Given the description of an element on the screen output the (x, y) to click on. 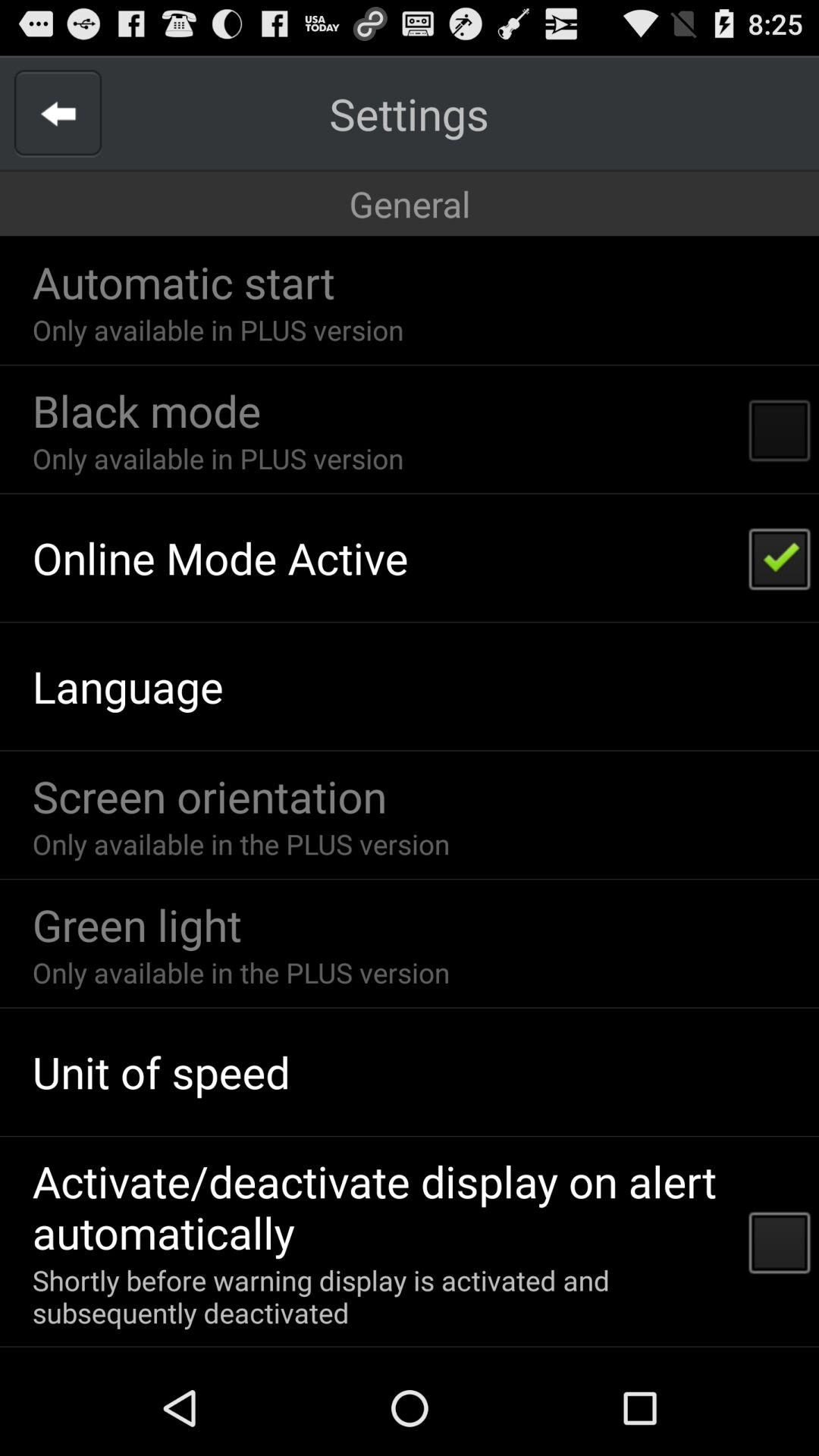
press the app to the left of settings icon (57, 113)
